Given the description of an element on the screen output the (x, y) to click on. 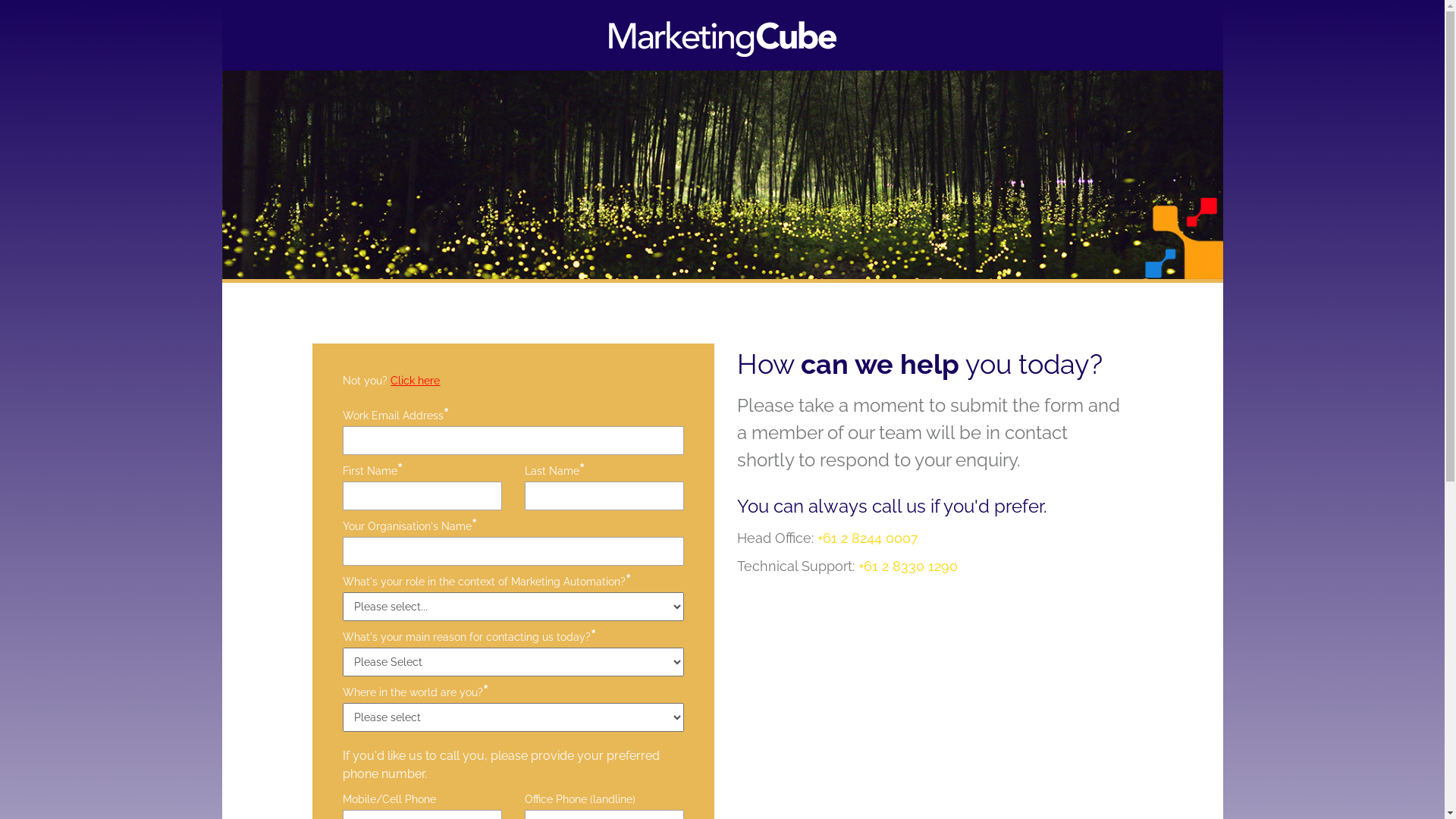
+61 2 8330 1290 Element type: text (907, 566)
+61 2 8244 0007 Element type: text (867, 538)
